Given the description of an element on the screen output the (x, y) to click on. 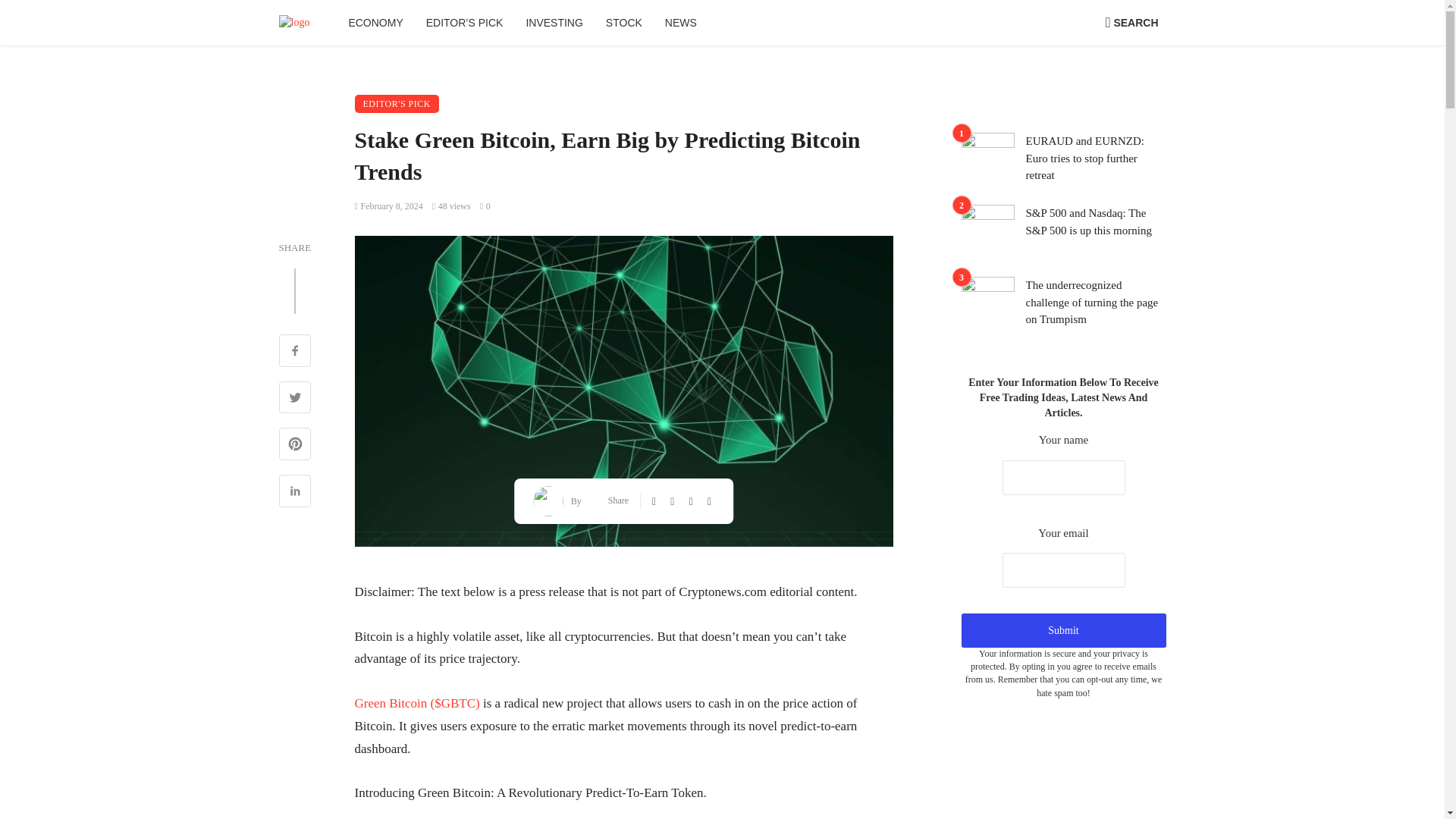
Share on Twitter (295, 399)
ECONOMY (374, 22)
NEWS (680, 22)
SEARCH (1131, 22)
Share on Pinterest (295, 445)
0 (485, 205)
0 Comments (485, 205)
Submit (1063, 630)
INVESTING (553, 22)
STOCK (623, 22)
